Given the description of an element on the screen output the (x, y) to click on. 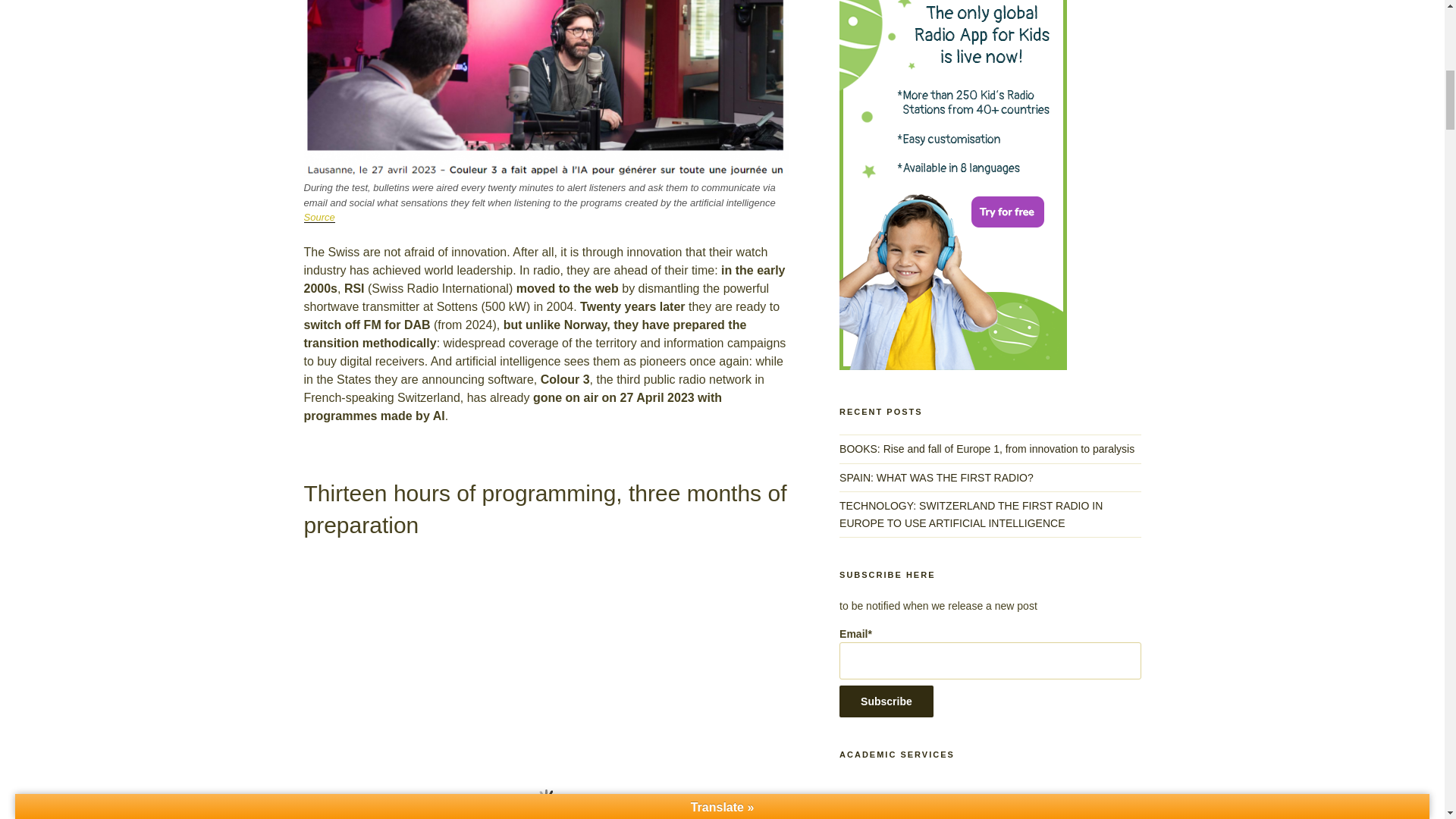
Source (318, 216)
Subscribe (886, 701)
